Given the description of an element on the screen output the (x, y) to click on. 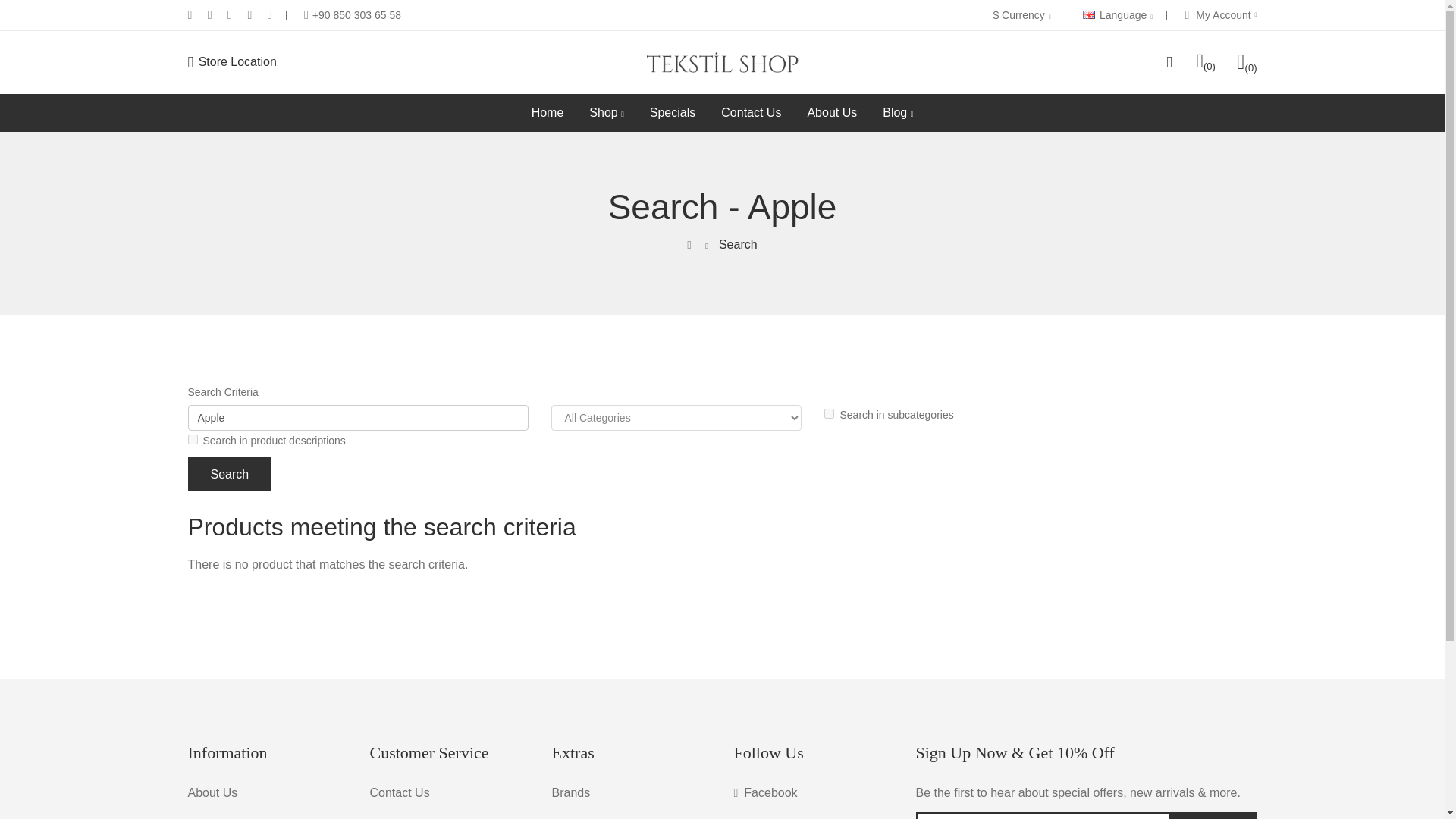
Language  (1118, 15)
1 (829, 413)
Twitter (756, 816)
Facebook (765, 793)
Store Location (231, 61)
My Account (1221, 15)
Search (229, 474)
Apple (358, 417)
My Account (1221, 15)
1 (192, 439)
